Given the description of an element on the screen output the (x, y) to click on. 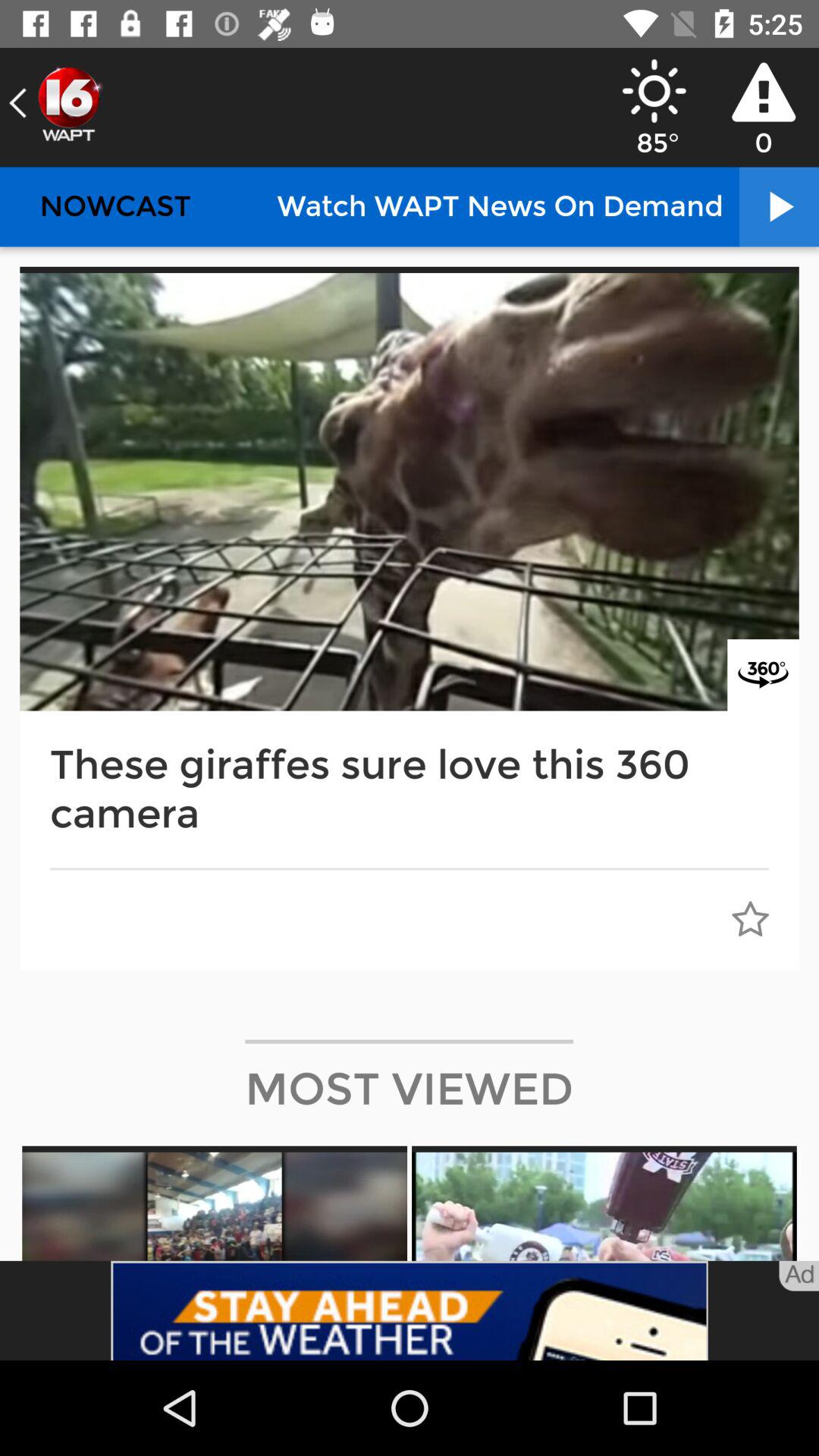
360 view (763, 674)
